Given the description of an element on the screen output the (x, y) to click on. 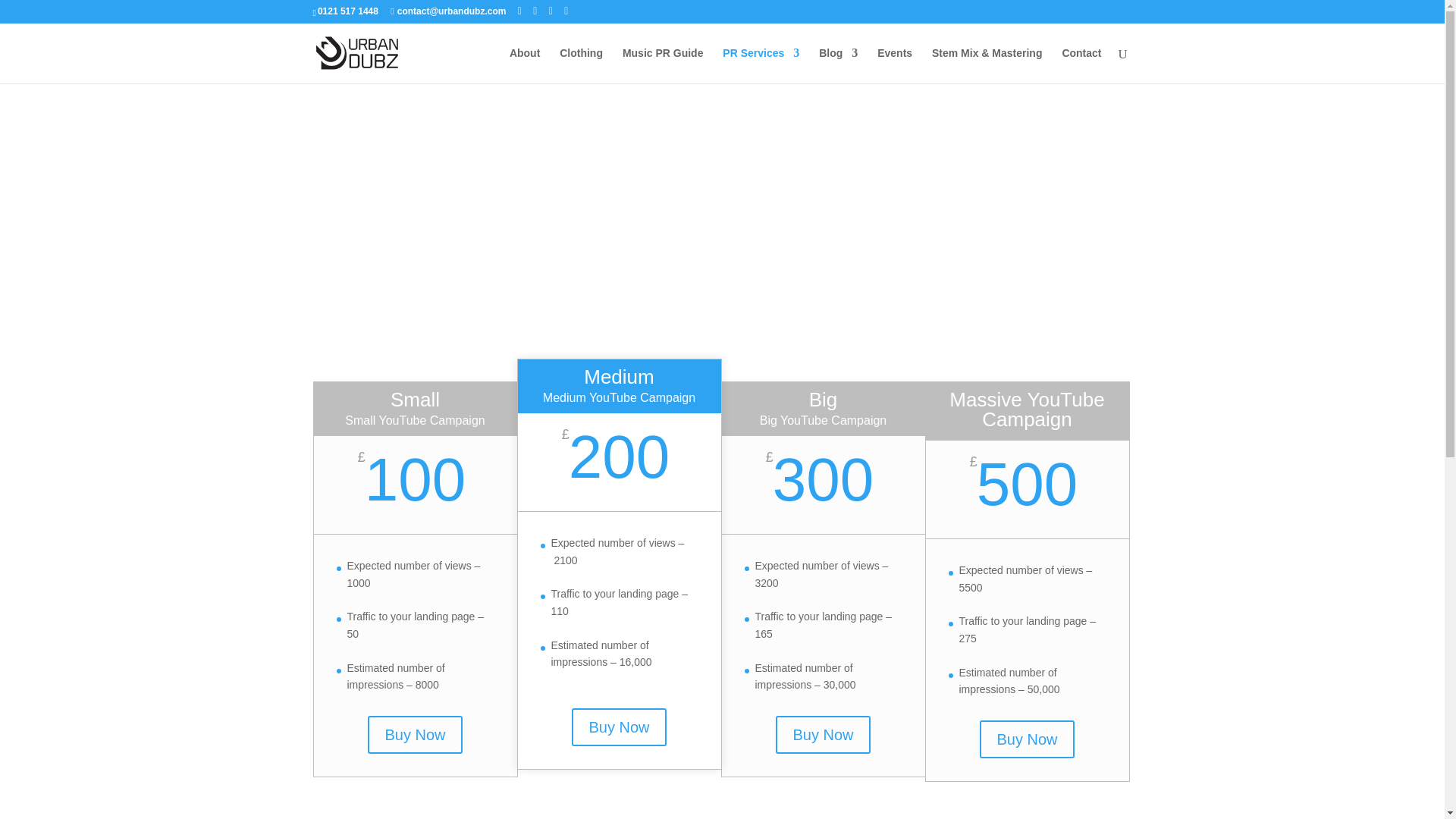
Clothing (580, 65)
About (524, 65)
Buy Now (618, 727)
Buy Now (822, 734)
Blog (837, 65)
Buy Now (414, 734)
PR Services (760, 65)
Contact (1080, 65)
Music PR Guide (663, 65)
Buy Now (1026, 739)
Events (894, 65)
